Given the description of an element on the screen output the (x, y) to click on. 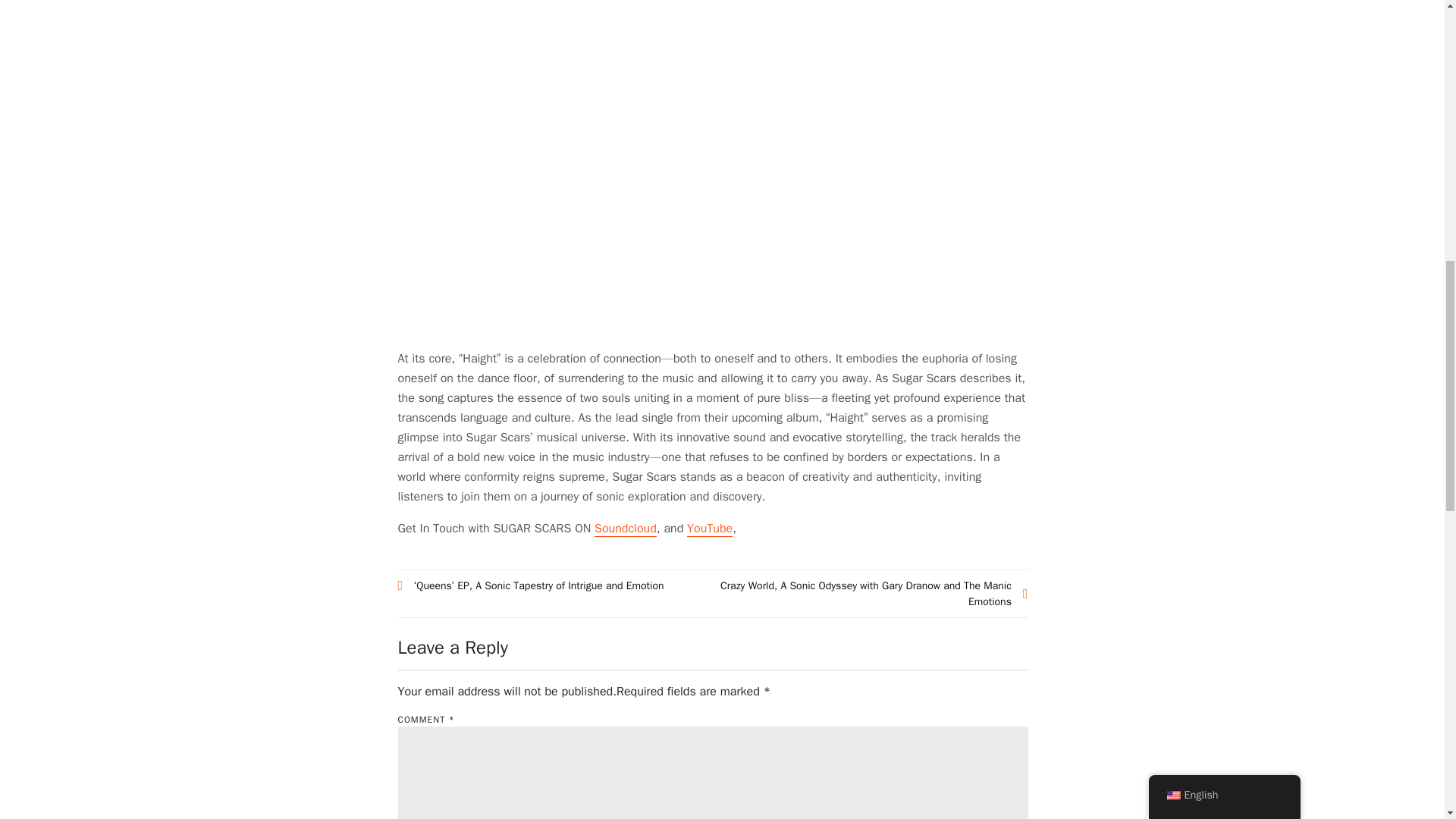
Soundcloud (625, 528)
YouTube (709, 528)
